Given the description of an element on the screen output the (x, y) to click on. 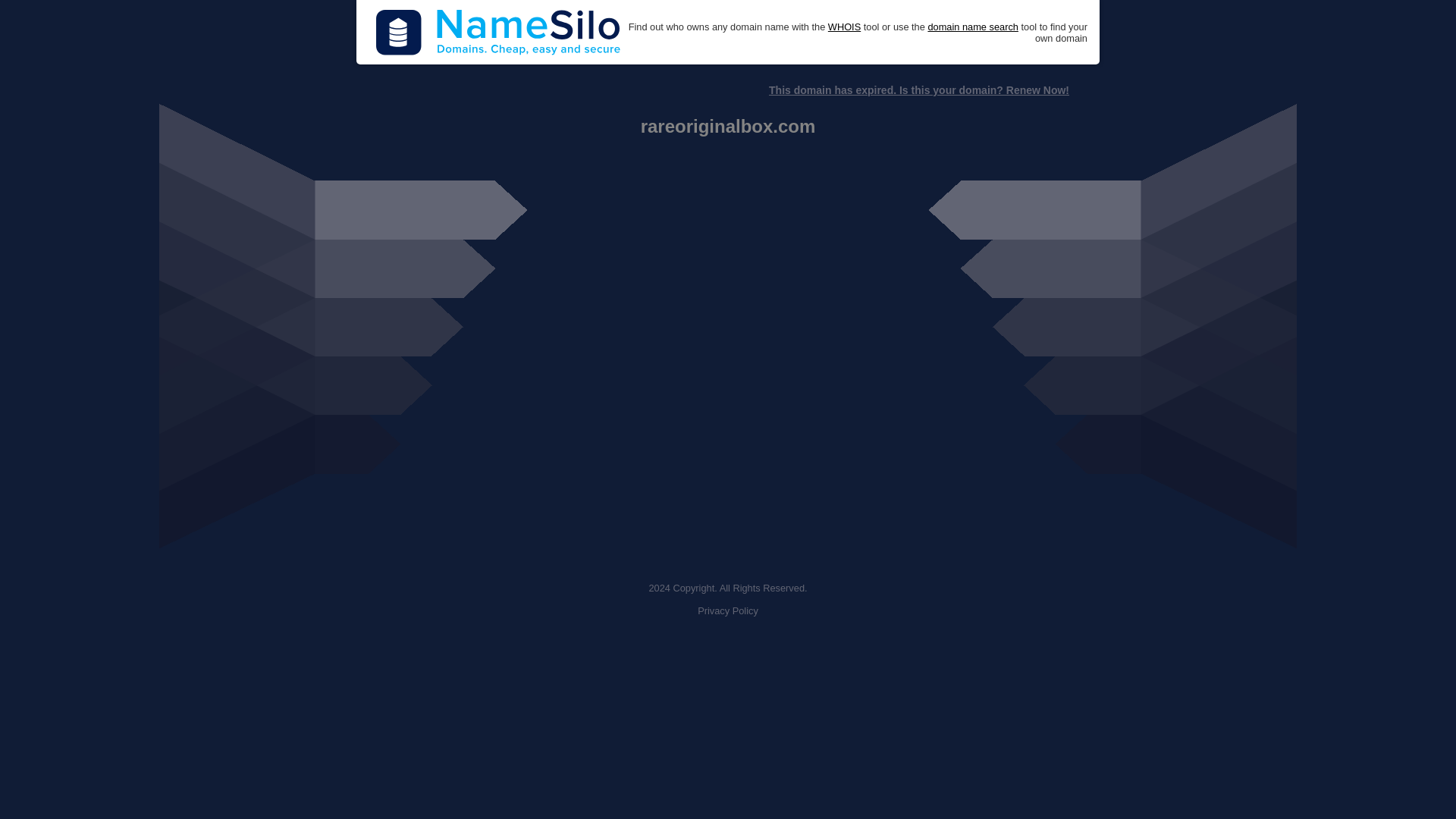
Privacy Policy (727, 610)
WHOIS (844, 26)
domain name search (972, 26)
This domain has expired. Is this your domain? Renew Now! (918, 90)
